Given the description of an element on the screen output the (x, y) to click on. 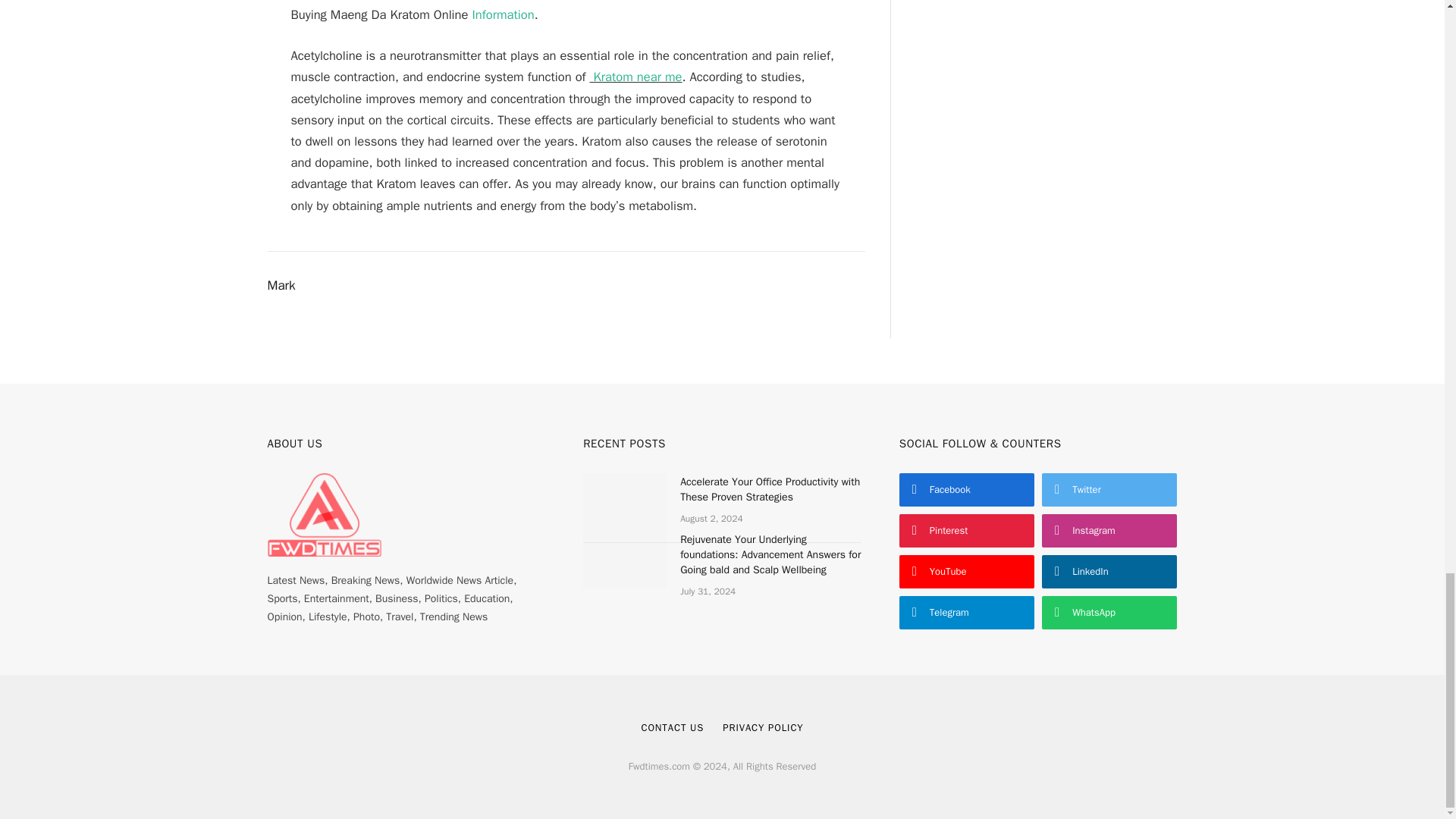
Information (502, 14)
Posts by Mark (280, 285)
Mark (280, 285)
Kratom near me (635, 76)
